Given the description of an element on the screen output the (x, y) to click on. 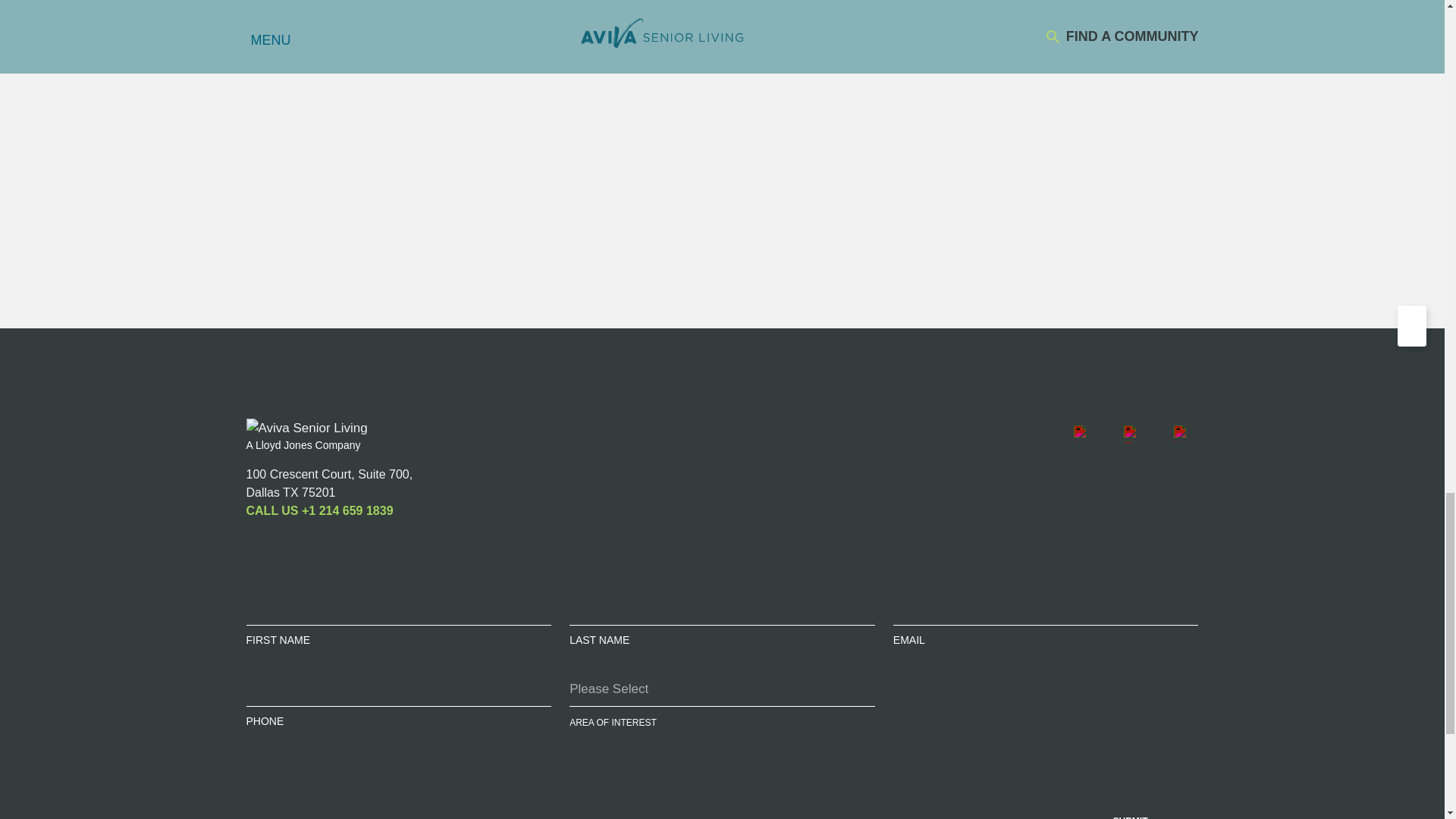
Linkedin (1081, 433)
Youtube (1182, 433)
Please Select (722, 688)
A Lloyd Jones Company (302, 444)
Facebook (1132, 433)
SUBMIT (1129, 785)
